Given the description of an element on the screen output the (x, y) to click on. 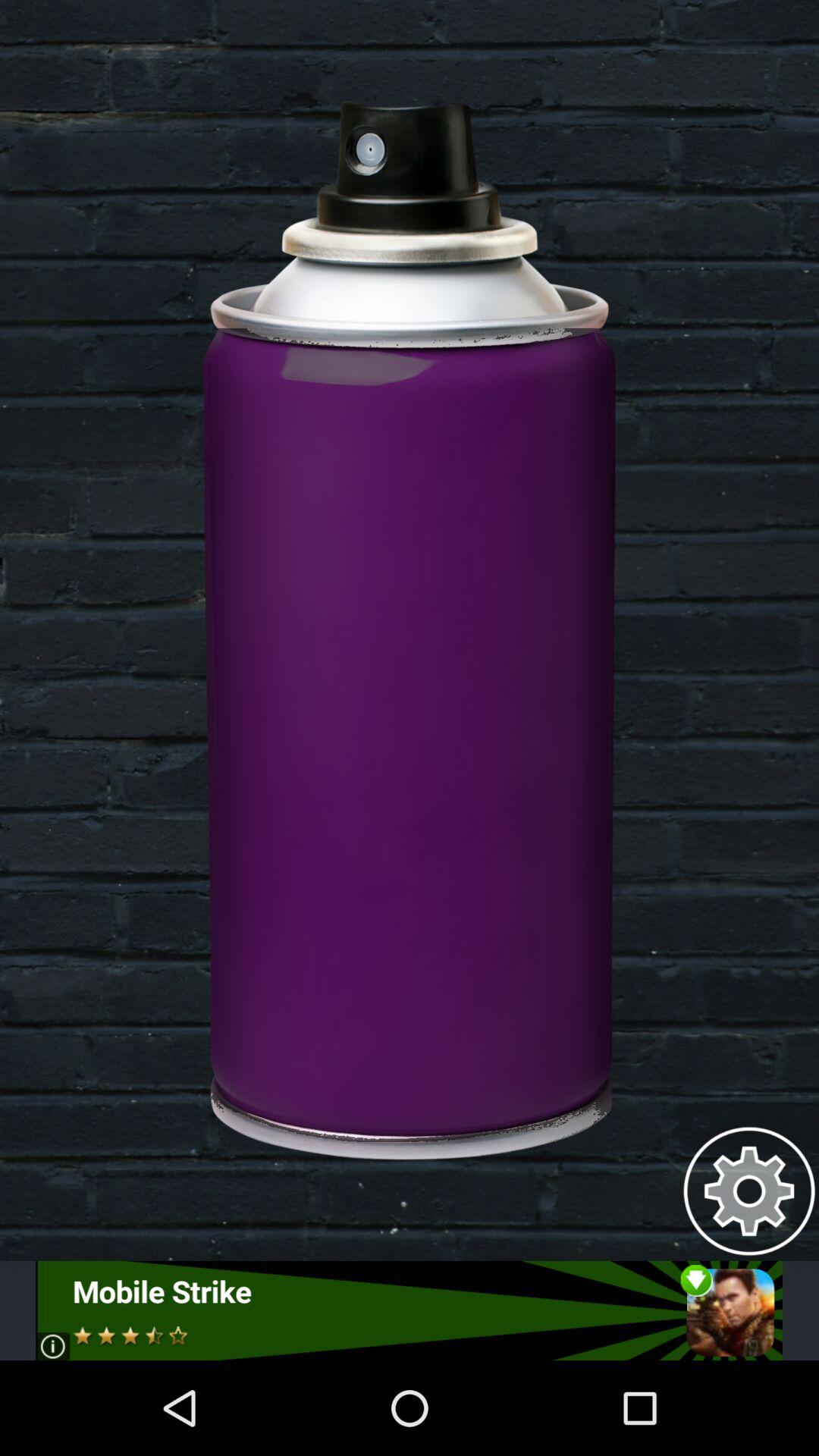
turn off the icon at the bottom right corner (749, 1190)
